Given the description of an element on the screen output the (x, y) to click on. 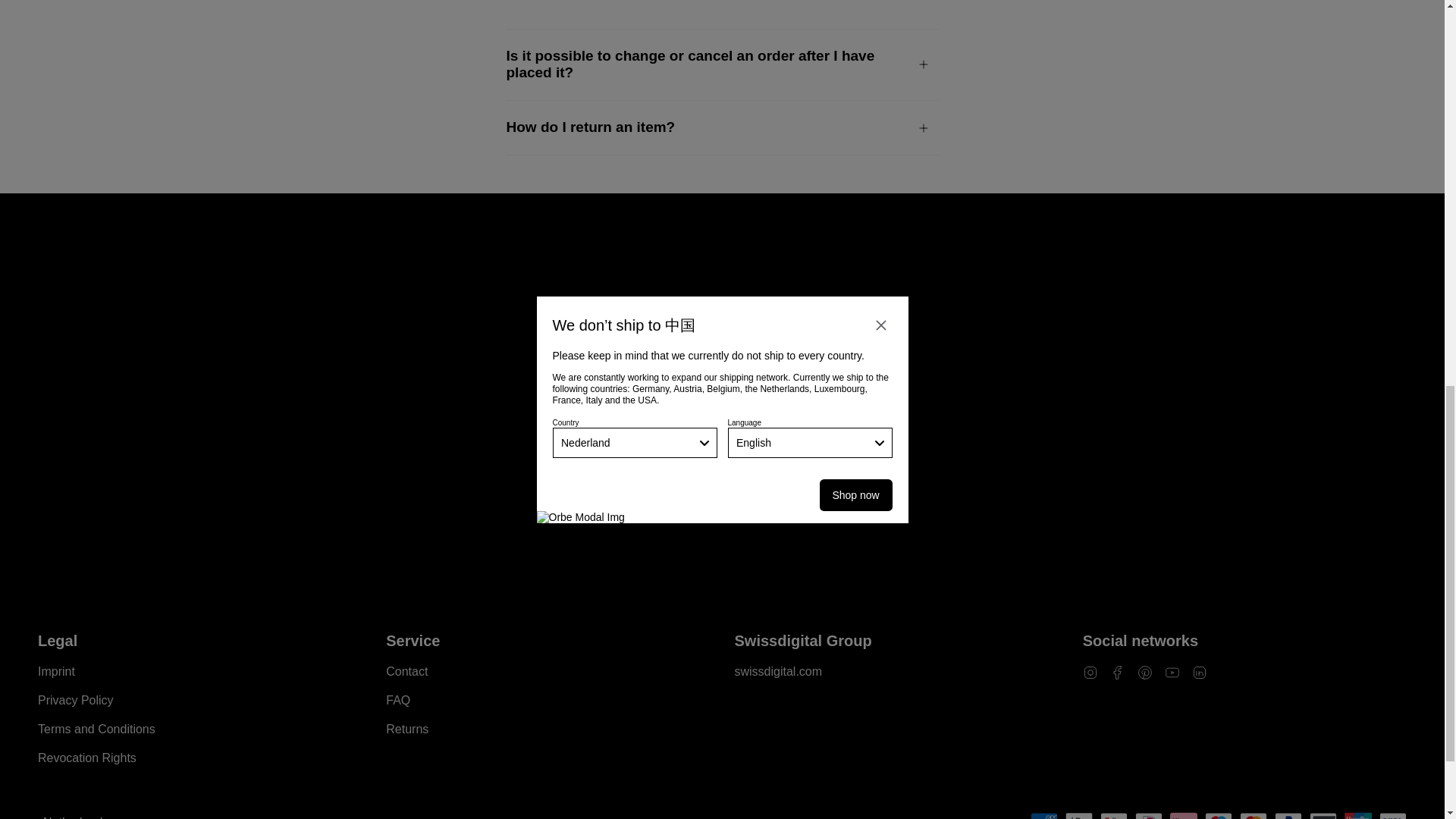
Swissdigital Europe GmbH on Linkedin (1199, 671)
Google Pay (1113, 815)
Apple Pay (1079, 815)
iDEAL (1148, 815)
Swissdigital Europe GmbH on Pinterest (1145, 671)
Swissdigital Europe GmbH on Facebook (1117, 671)
American Express (1044, 815)
Swissdigital Europe GmbH on YouTube (1171, 671)
Swissdigital Europe GmbH on Instagram (1090, 671)
